Given the description of an element on the screen output the (x, y) to click on. 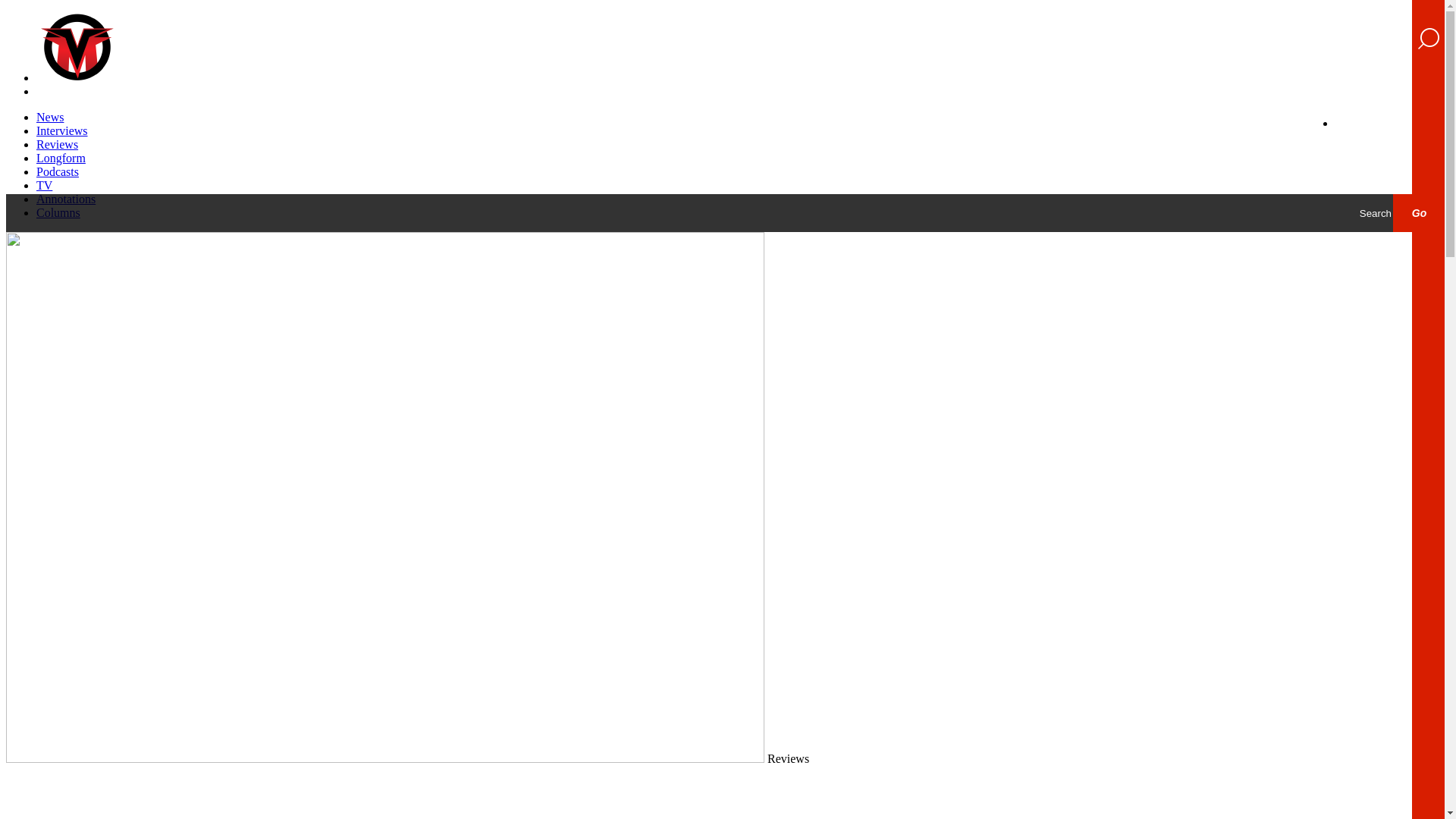
Columns (58, 212)
Podcasts (57, 171)
Interviews (61, 130)
Annotations (66, 198)
TV (44, 185)
Longform (60, 157)
News (50, 116)
Reviews (57, 144)
Search (1317, 212)
